Given the description of an element on the screen output the (x, y) to click on. 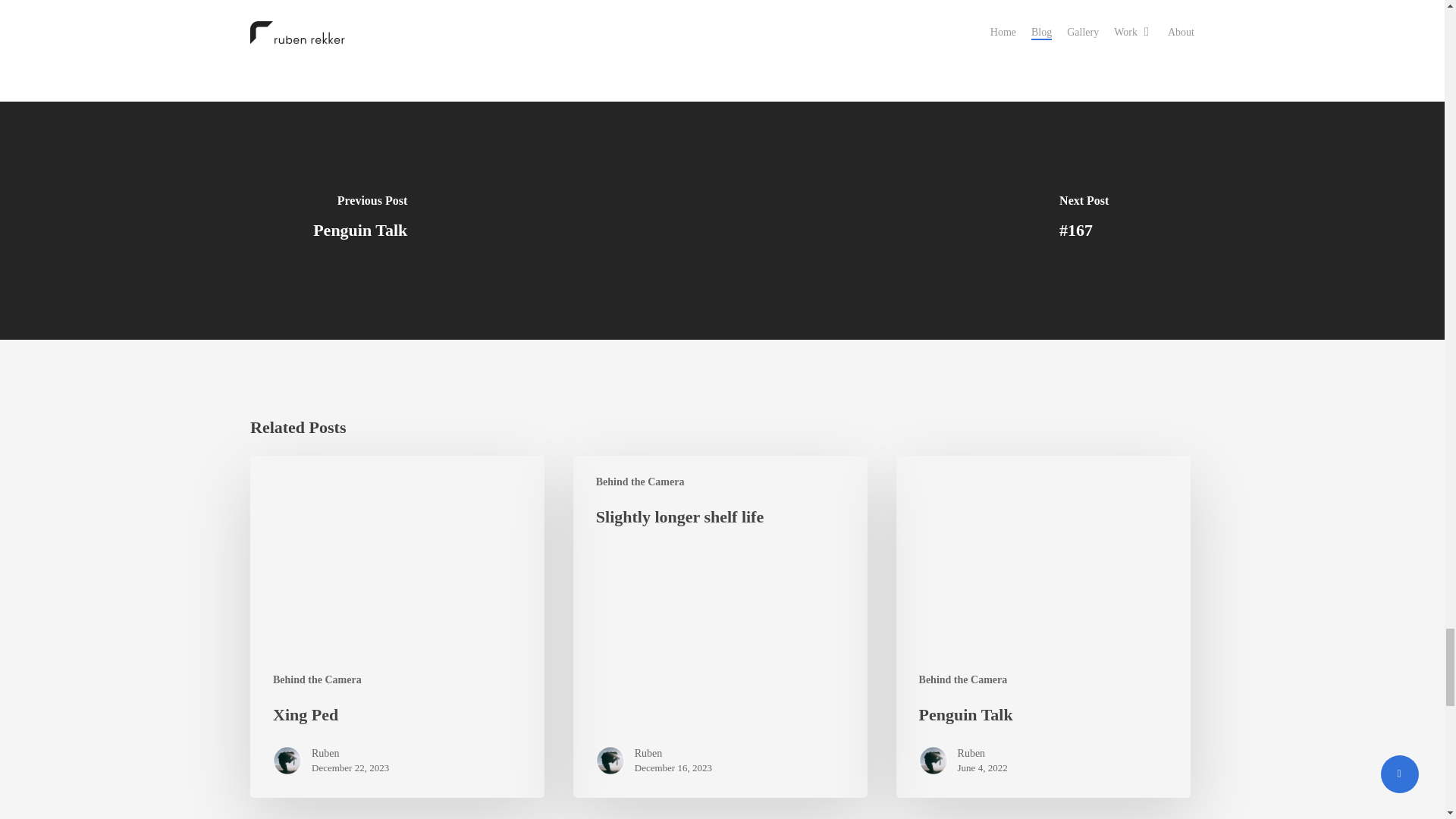
Ruben (982, 753)
Ruben (349, 753)
Behind the Camera (962, 679)
Behind the Camera (639, 481)
Behind the Camera (317, 679)
Ruben (672, 753)
